Given the description of an element on the screen output the (x, y) to click on. 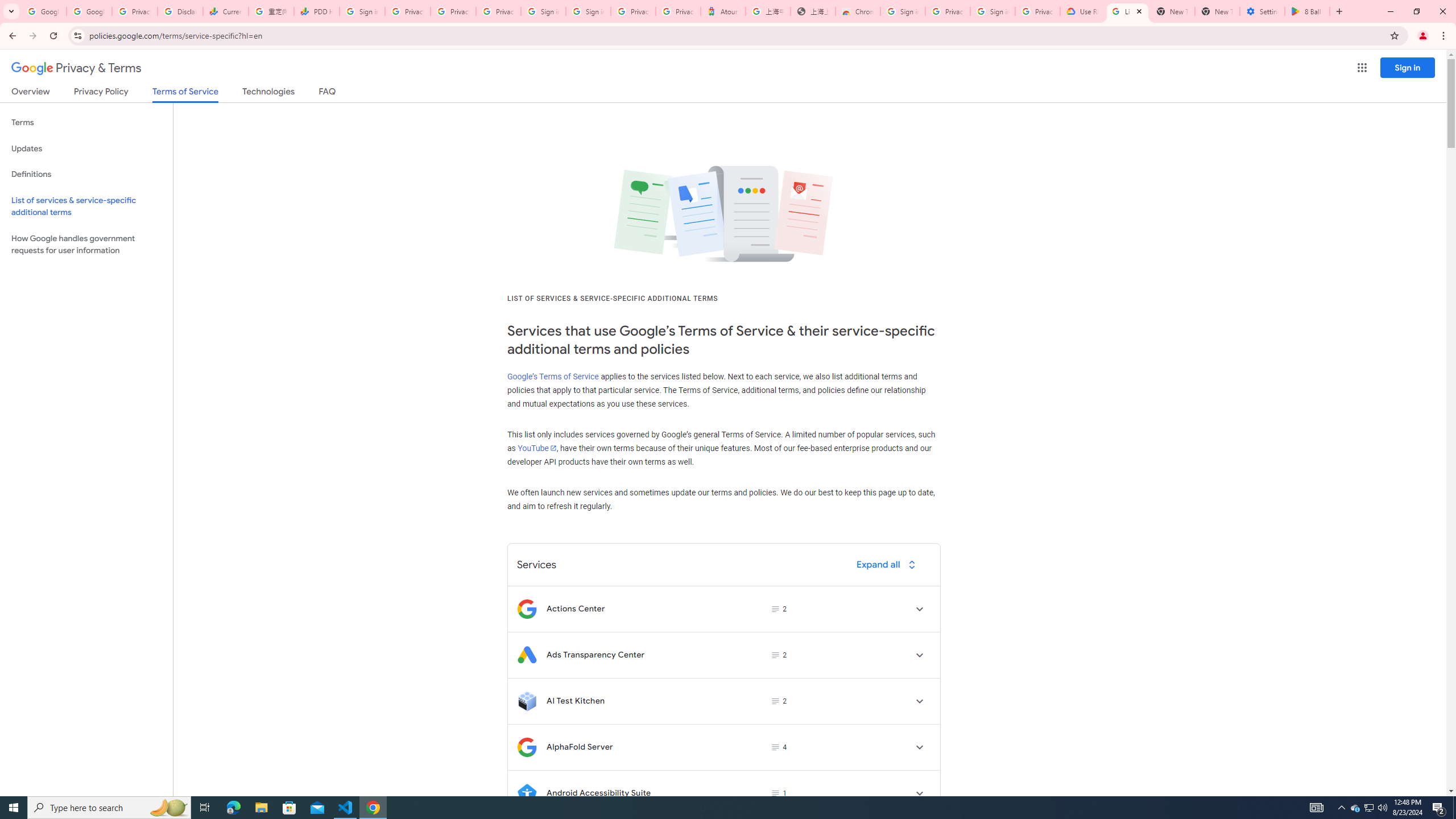
How Google handles government requests for user information (86, 244)
Logo for Ads Transparency Center (526, 654)
Google Workspace Admin Community (43, 11)
